Given the description of an element on the screen output the (x, y) to click on. 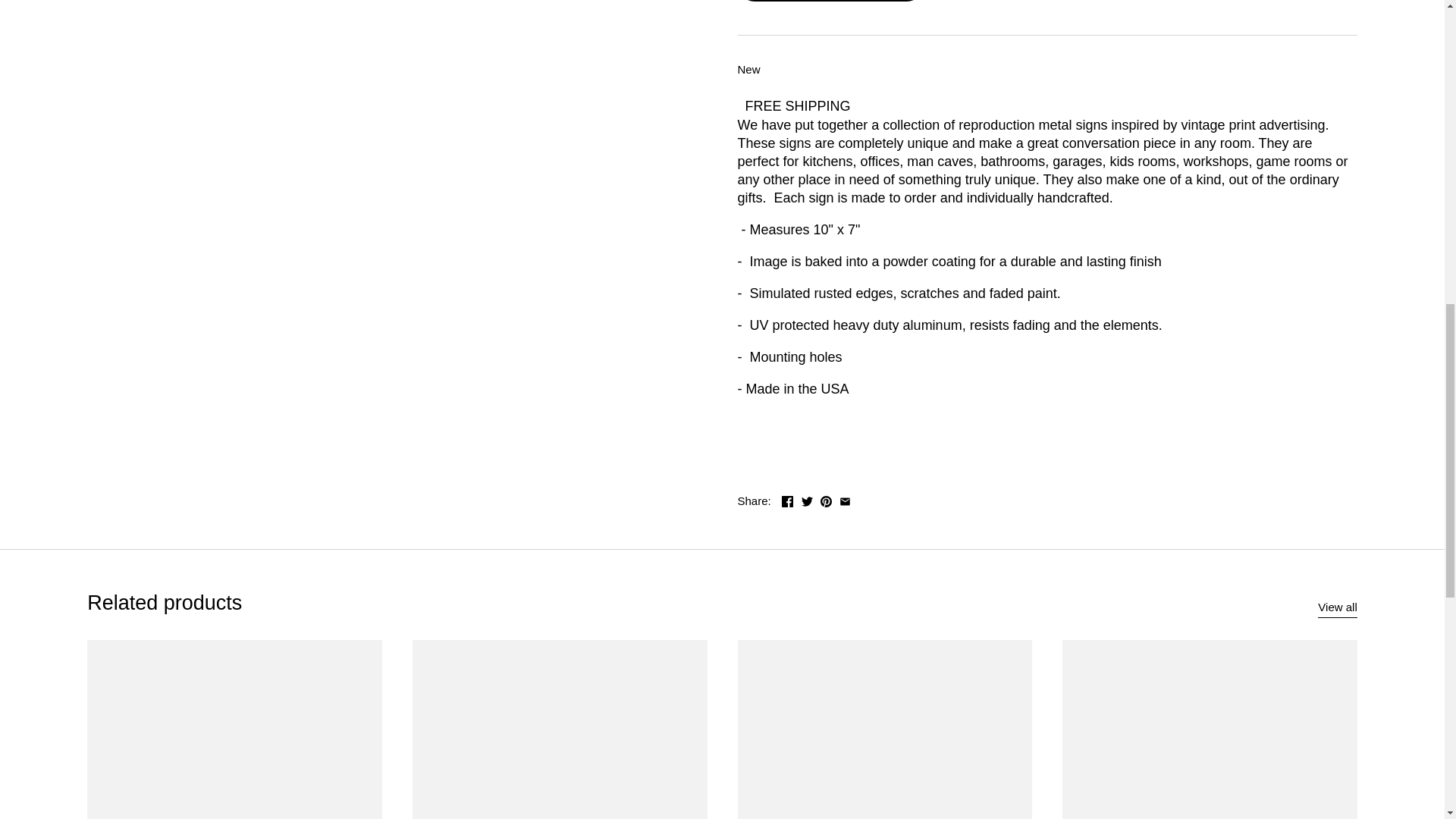
Pinterest (826, 501)
Share on Facebook (787, 499)
Email (845, 501)
Share using email (845, 499)
Share on Twitter (807, 499)
Pin the main image (826, 499)
Facebook (787, 501)
Twitter (807, 501)
